Given the description of an element on the screen output the (x, y) to click on. 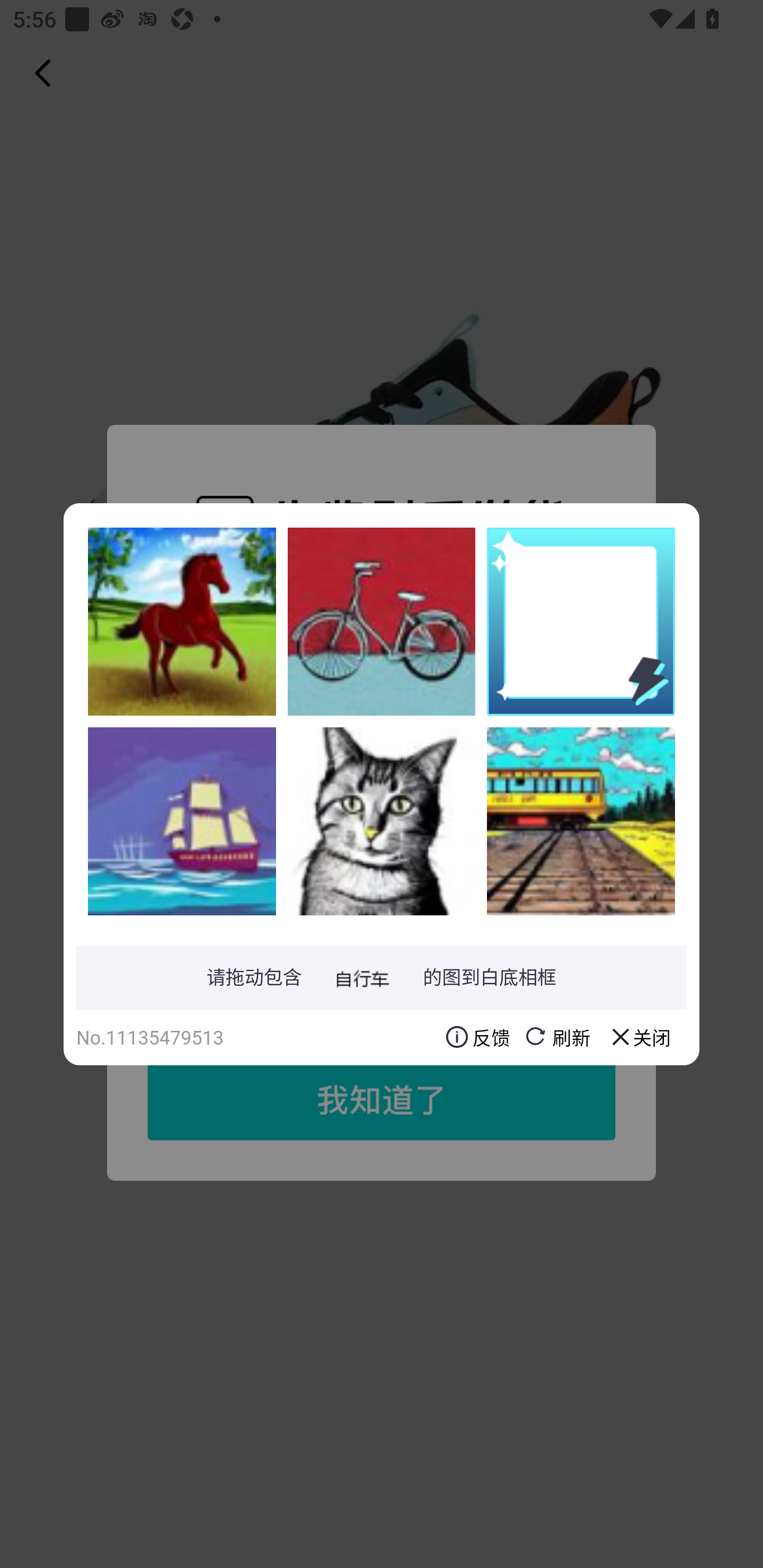
UVYaNqgn9evVNVCHDR0sy5YultnBM2X7tlh16w2ybX (381, 820)
IKLueu4X (580, 820)
